Given the description of an element on the screen output the (x, y) to click on. 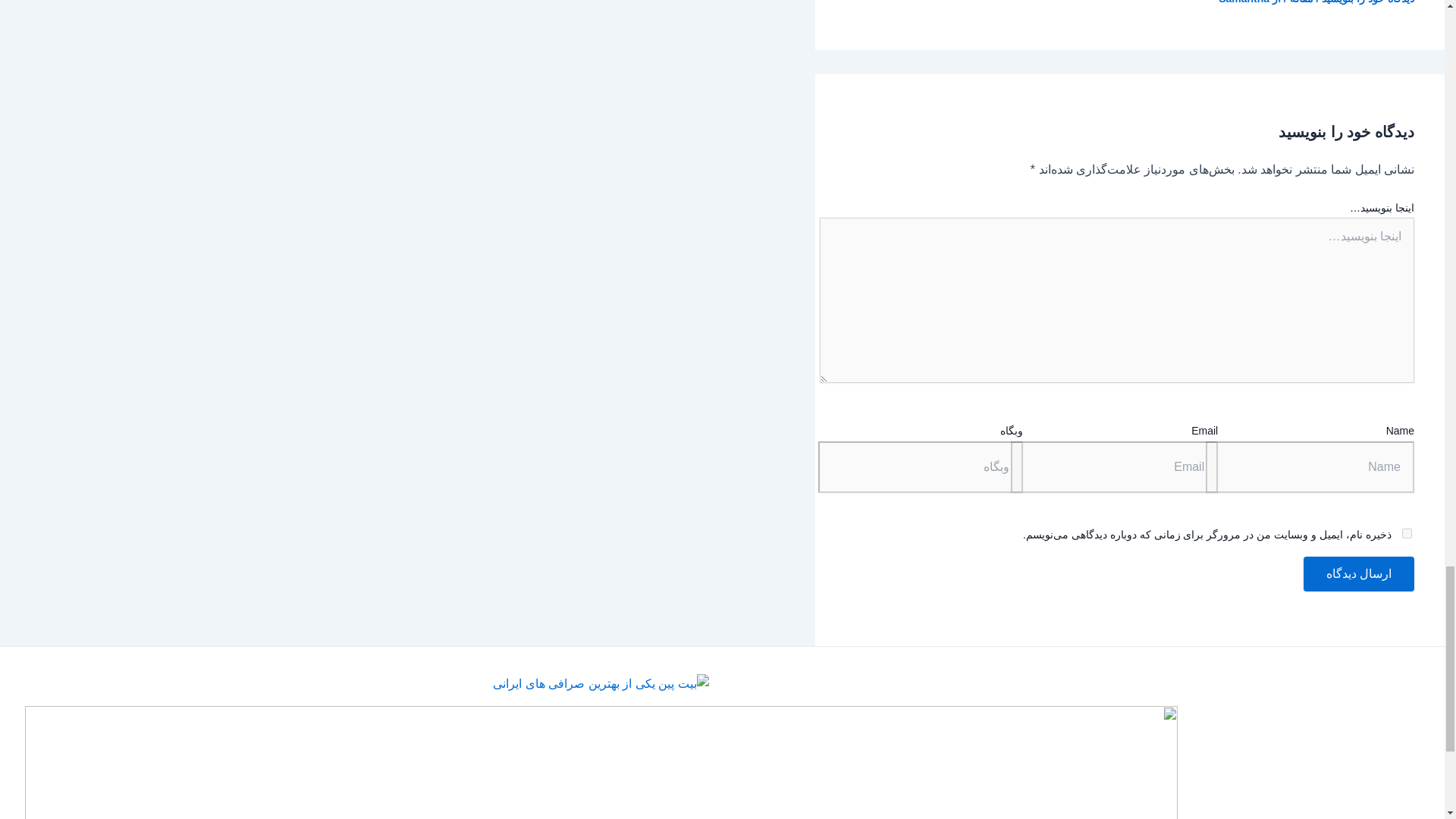
yes (1407, 533)
